Given the description of an element on the screen output the (x, y) to click on. 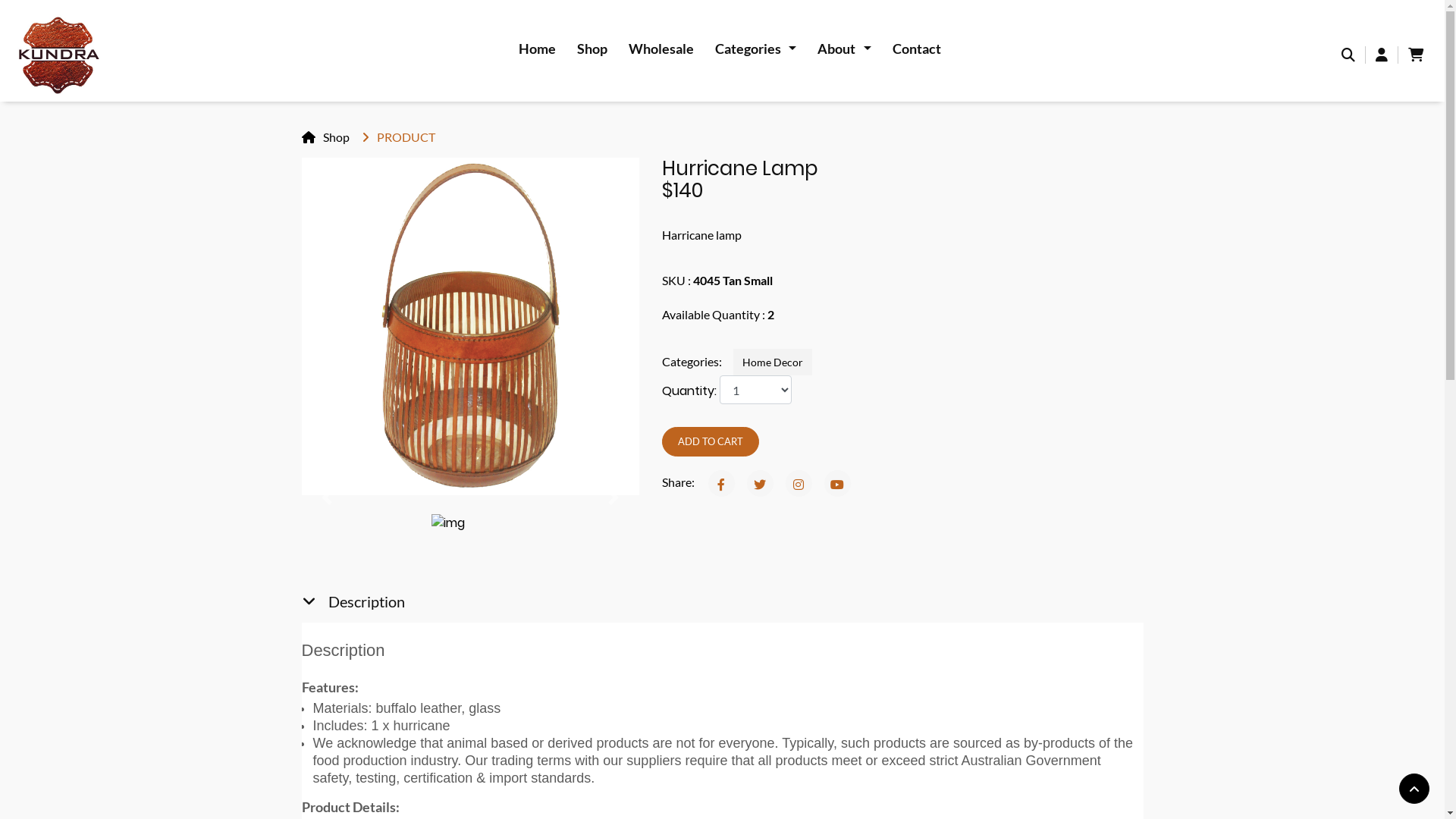
Next Element type: text (613, 496)
Home Decor Element type: text (771, 361)
About   Element type: text (843, 48)
Contact Element type: text (916, 48)
Categories   Element type: text (755, 48)
Previous Element type: text (326, 496)
Home Element type: text (537, 48)
Shop Element type: text (592, 48)
Shop Element type: text (325, 136)
Description Element type: text (353, 601)
PRODUCT Element type: text (397, 136)
ADD TO CART Element type: text (709, 441)
Wholesale Element type: text (661, 48)
